Given the description of an element on the screen output the (x, y) to click on. 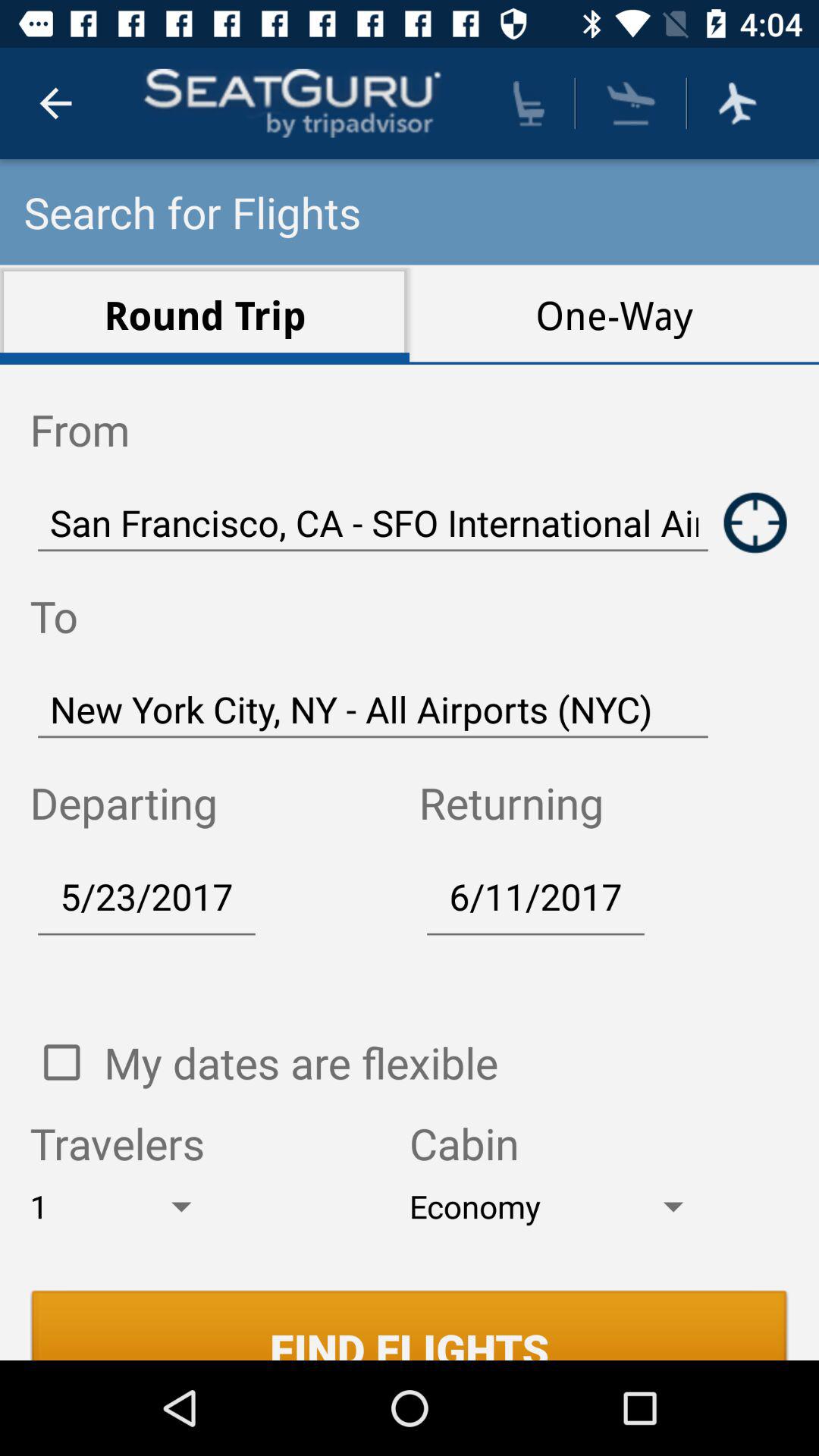
turn off the new york city (373, 708)
